Given the description of an element on the screen output the (x, y) to click on. 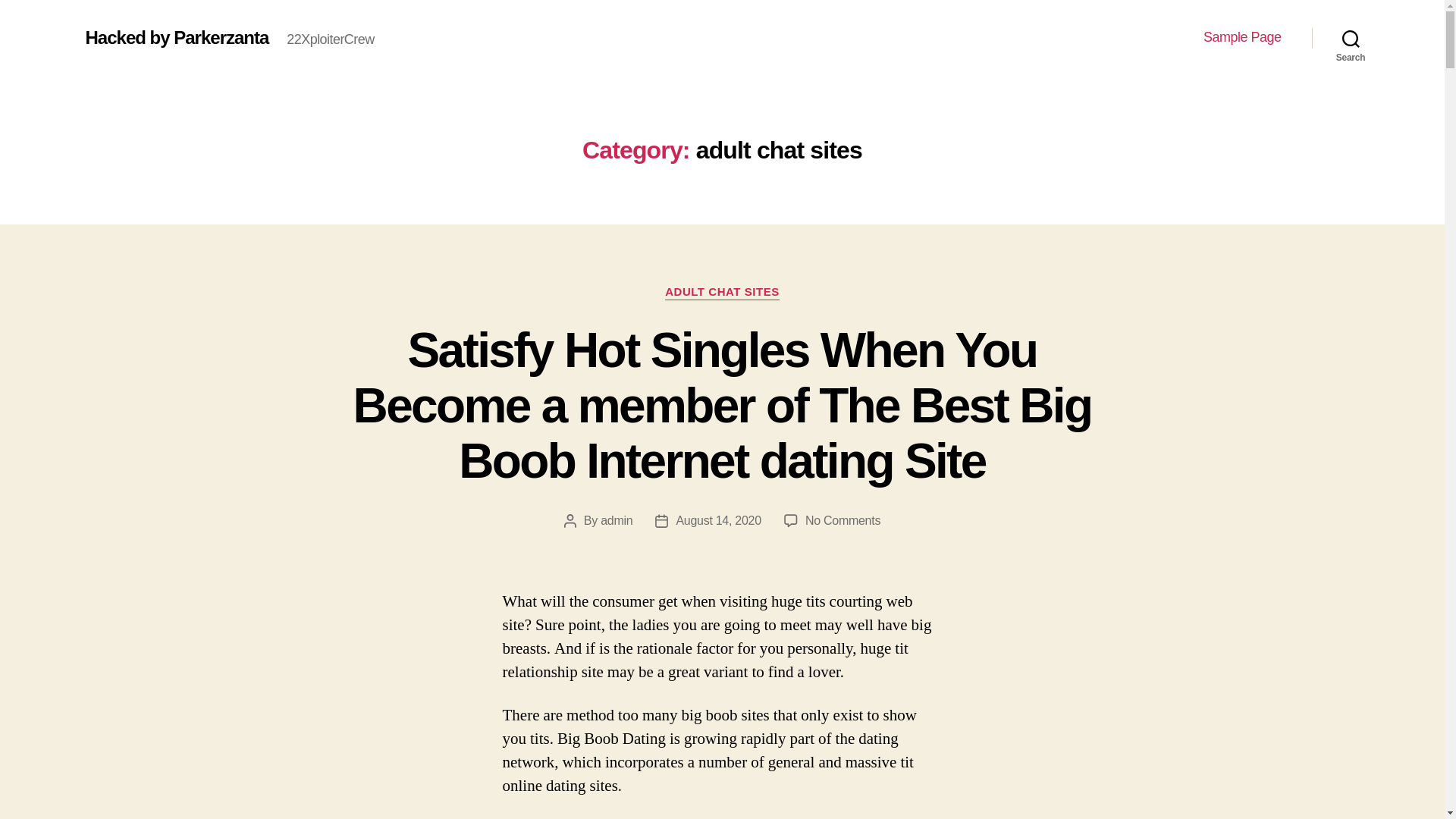
Search (1350, 37)
August 14, 2020 (718, 520)
ADULT CHAT SITES (721, 292)
Sample Page (1242, 37)
Hacked by Parkerzanta (175, 37)
admin (615, 520)
